Given the description of an element on the screen output the (x, y) to click on. 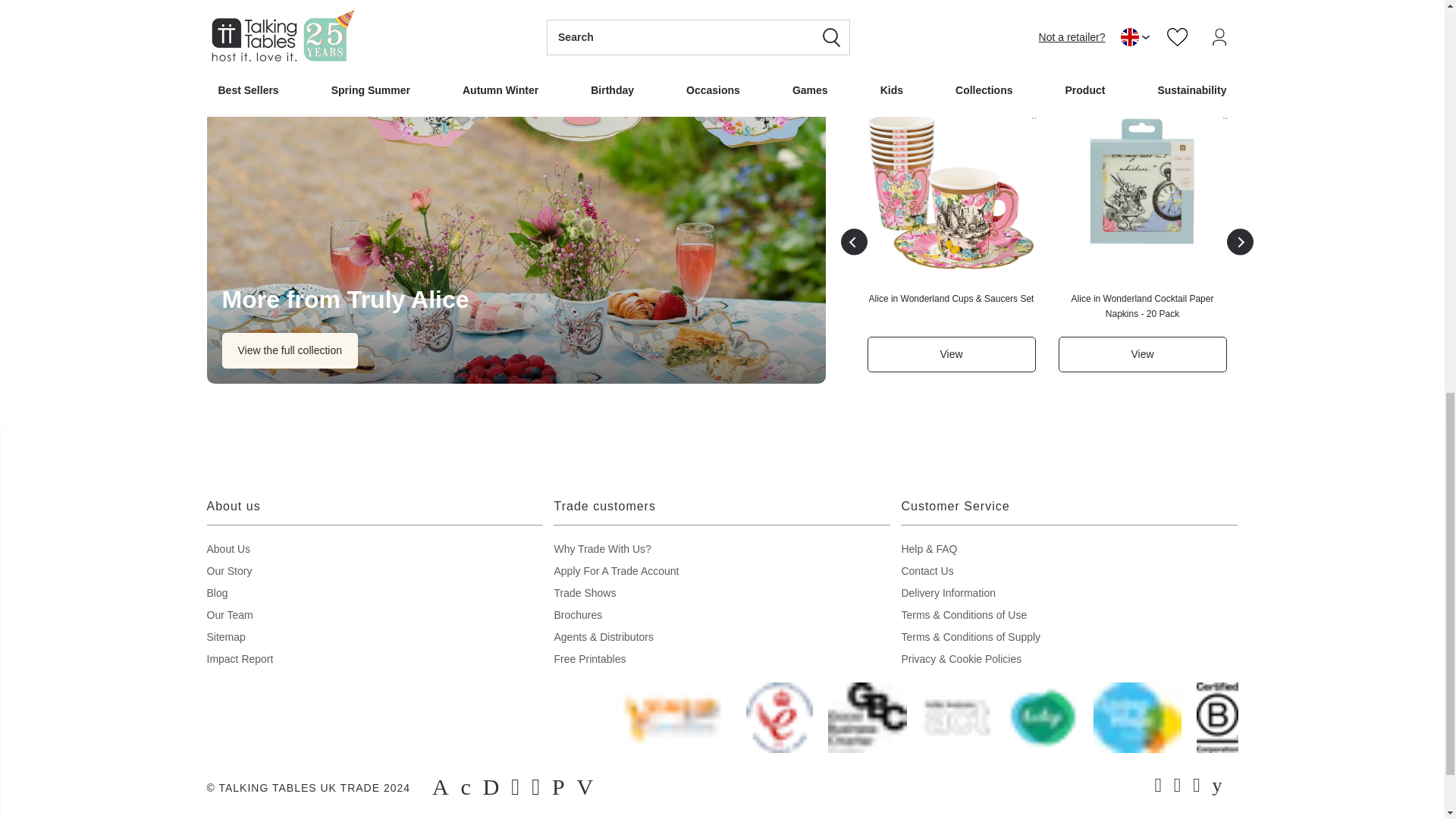
Talking Tables UK Trade on Youtube (1217, 787)
Talking Tables UK Trade on Pinterest (1196, 787)
Talking Tables UK Trade on Instagram (1177, 787)
Talking Tables UK Trade on Facebook (1157, 787)
